Given the description of an element on the screen output the (x, y) to click on. 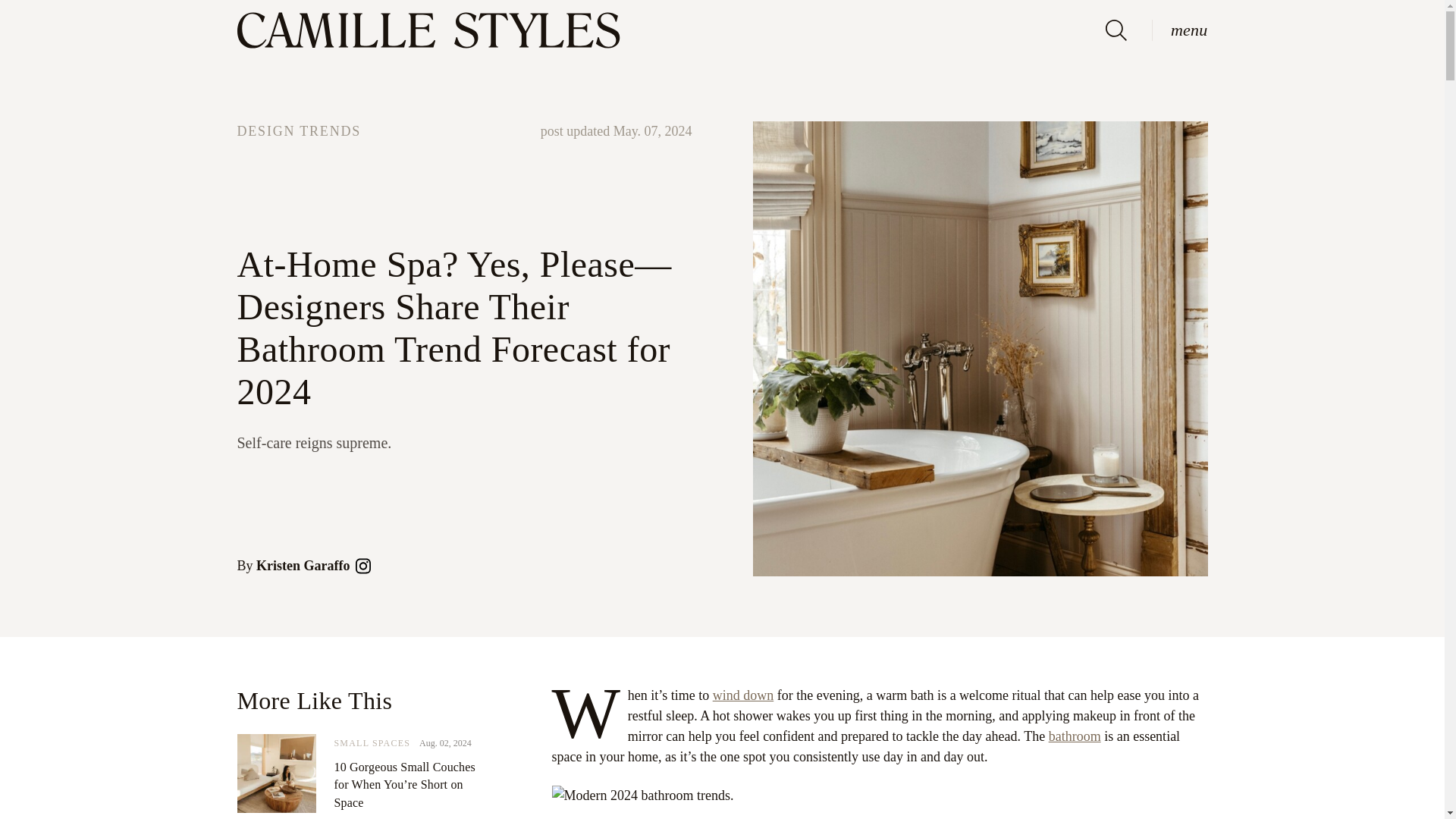
View Posts by Kristen Garaffo (302, 565)
menu (1189, 30)
